Given the description of an element on the screen output the (x, y) to click on. 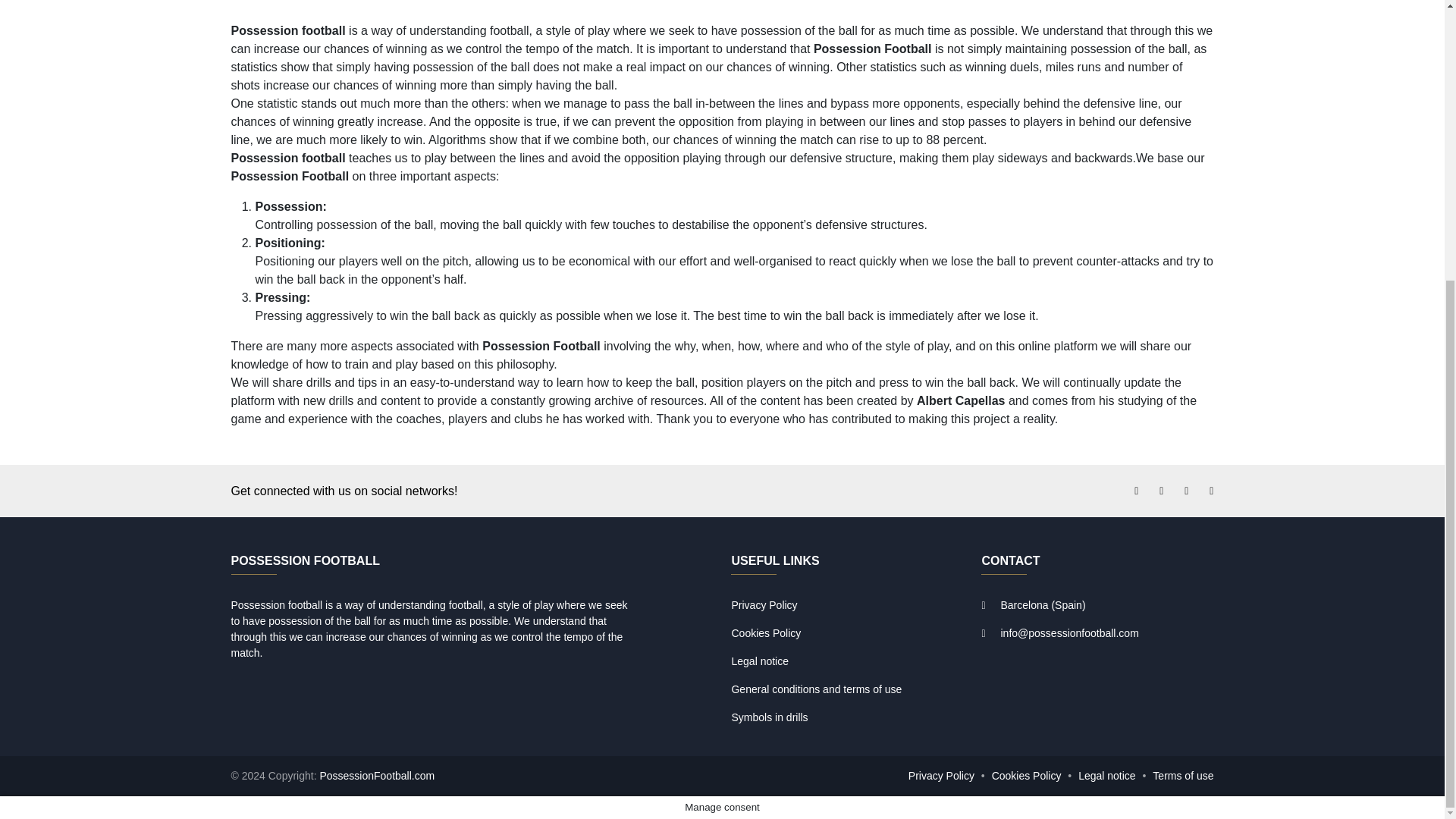
Legal notice (759, 661)
Terms of use (1182, 775)
Symbols in drills (769, 717)
Privacy Policy (763, 604)
Cookies Policy (765, 633)
General conditions and terms of use (815, 689)
Legal notice (1106, 775)
Privacy Policy (941, 775)
PossessionFootball.com (375, 775)
Cookies Policy (1026, 775)
